Given the description of an element on the screen output the (x, y) to click on. 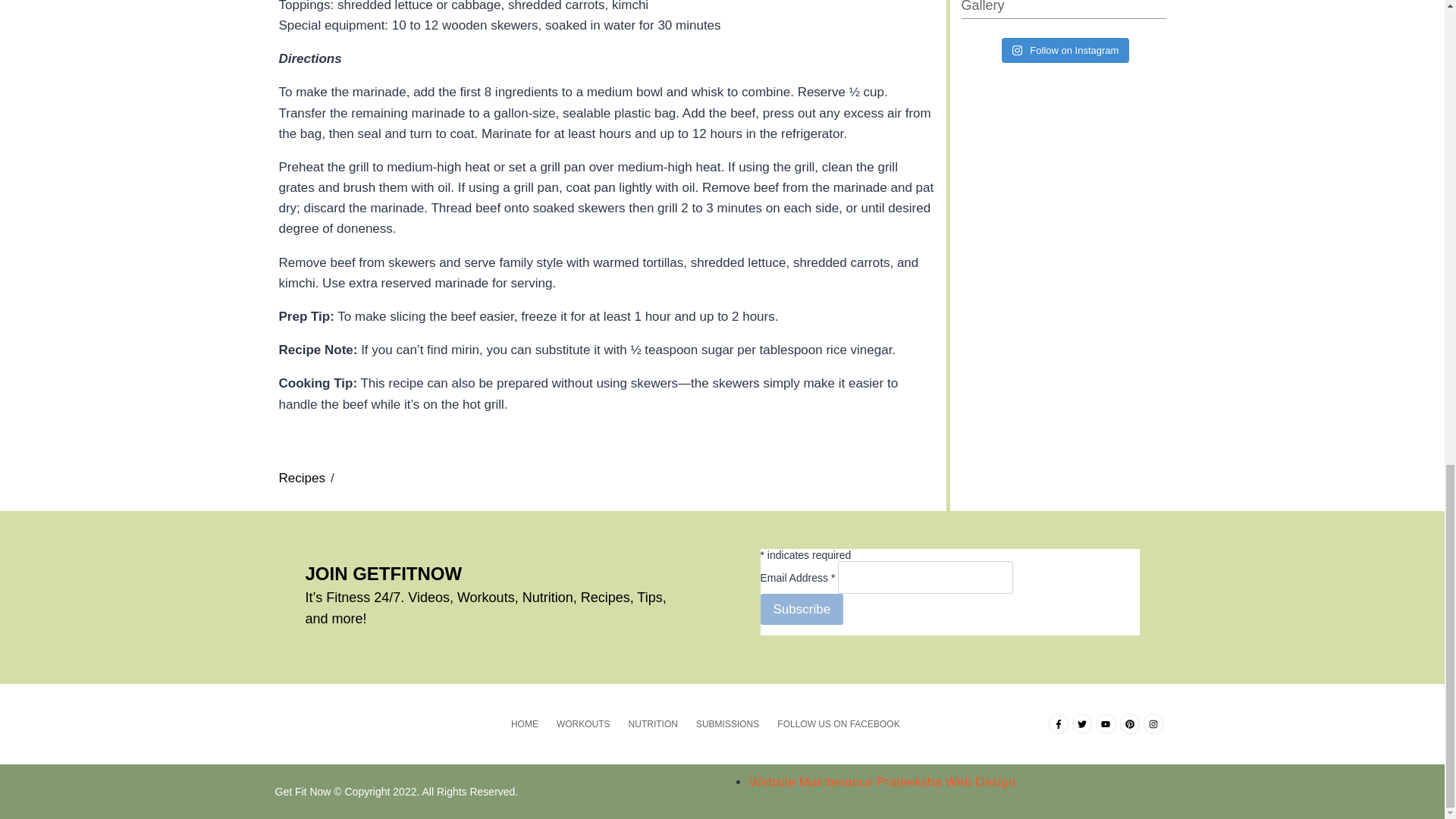
Subscribe (801, 608)
